Given the description of an element on the screen output the (x, y) to click on. 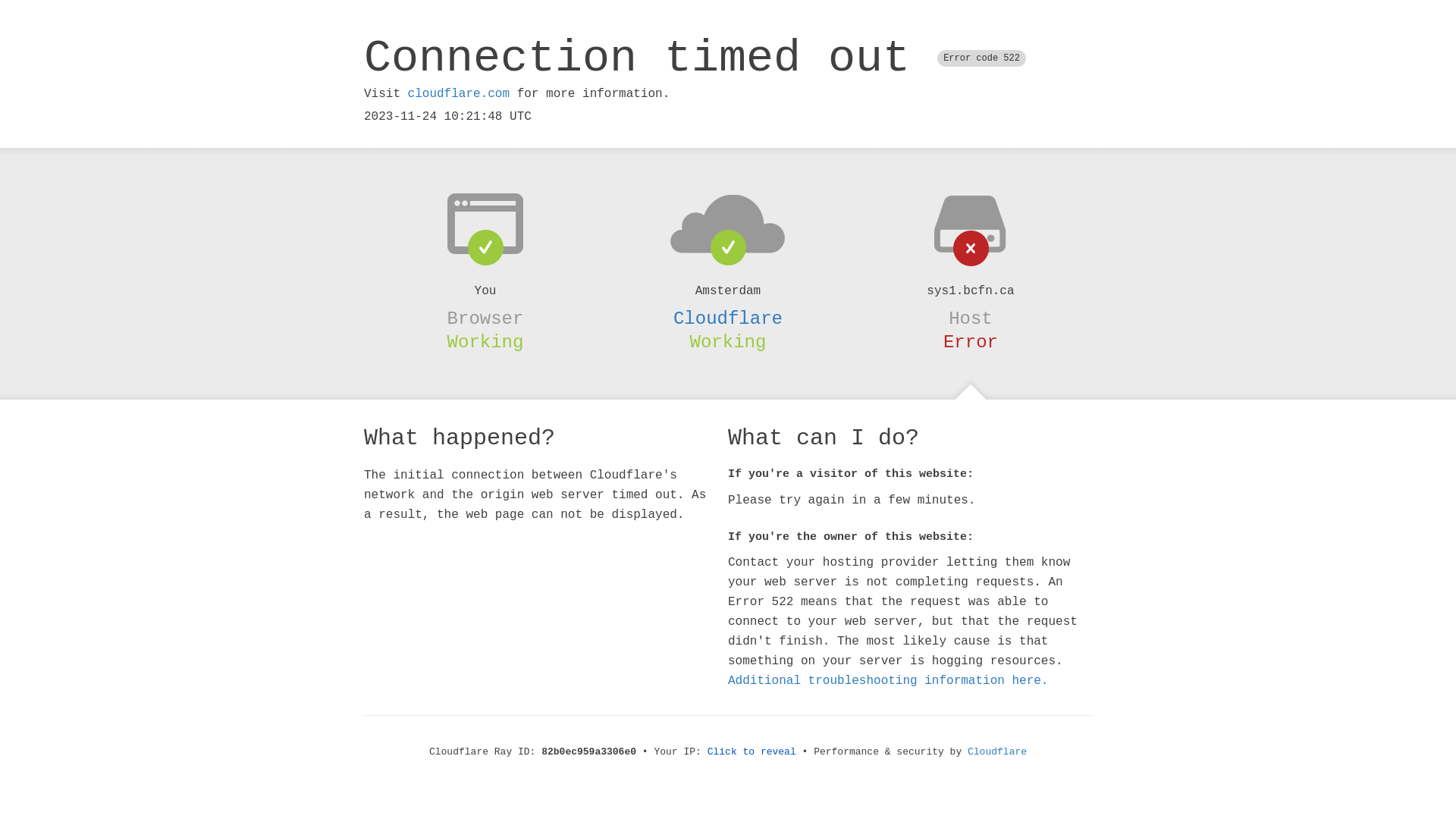
Click to reveal Element type: text (751, 751)
Additional troubleshooting information here. Element type: text (888, 680)
Cloudflare Element type: text (727, 318)
Cloudflare Element type: text (996, 751)
cloudflare.com Element type: text (458, 93)
